Given the description of an element on the screen output the (x, y) to click on. 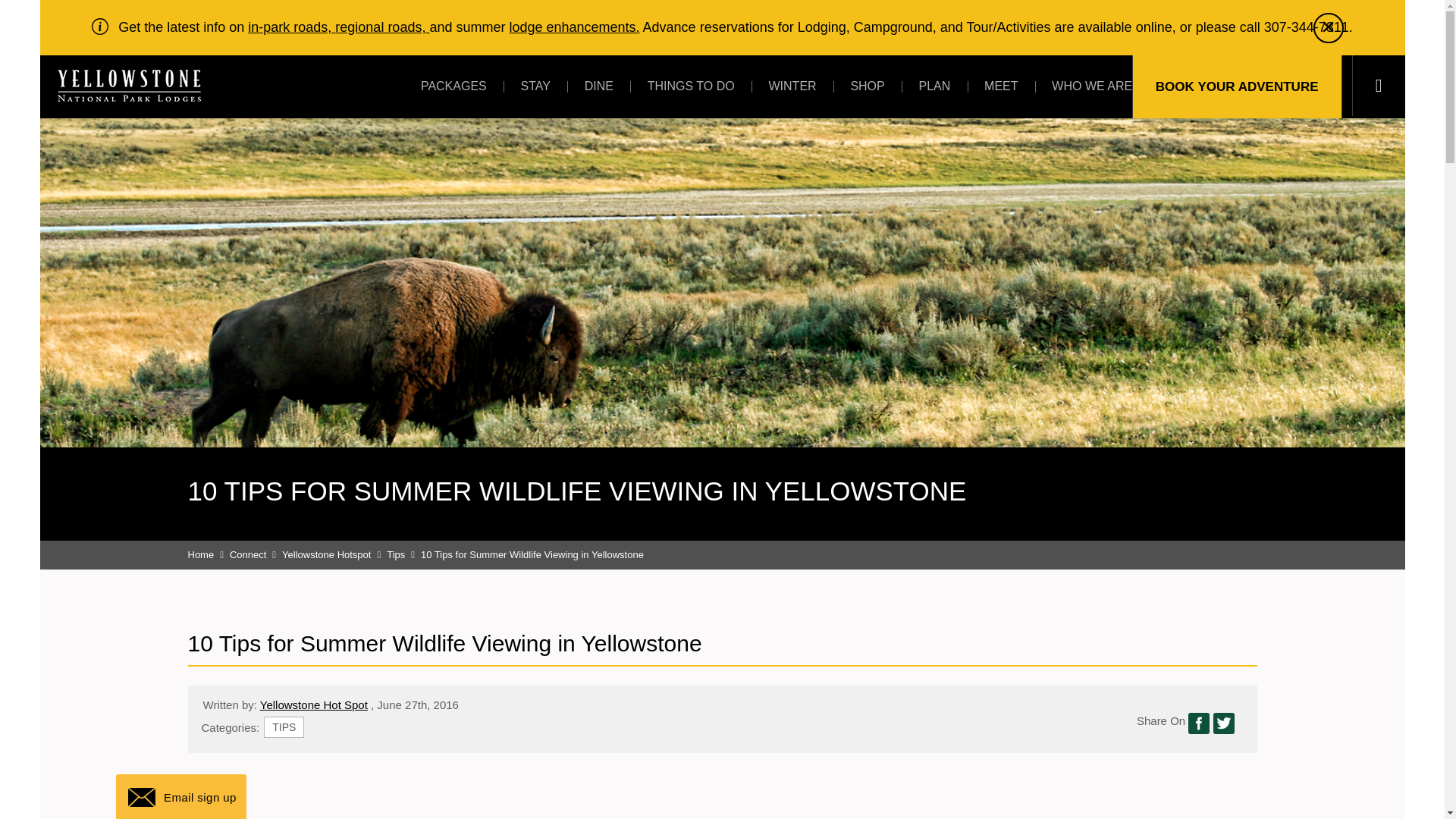
Go to the Tips category archives. (403, 554)
in-park roads, (290, 27)
Yellowstone National Park Lodges. (208, 554)
DINE (598, 86)
BOOK YOUR ADVENTURE (1237, 86)
STAY (535, 86)
lodge enhancements. (573, 27)
Yellowstone Hotspot. (334, 554)
regional roads, (381, 27)
WINTER (791, 86)
